Given the description of an element on the screen output the (x, y) to click on. 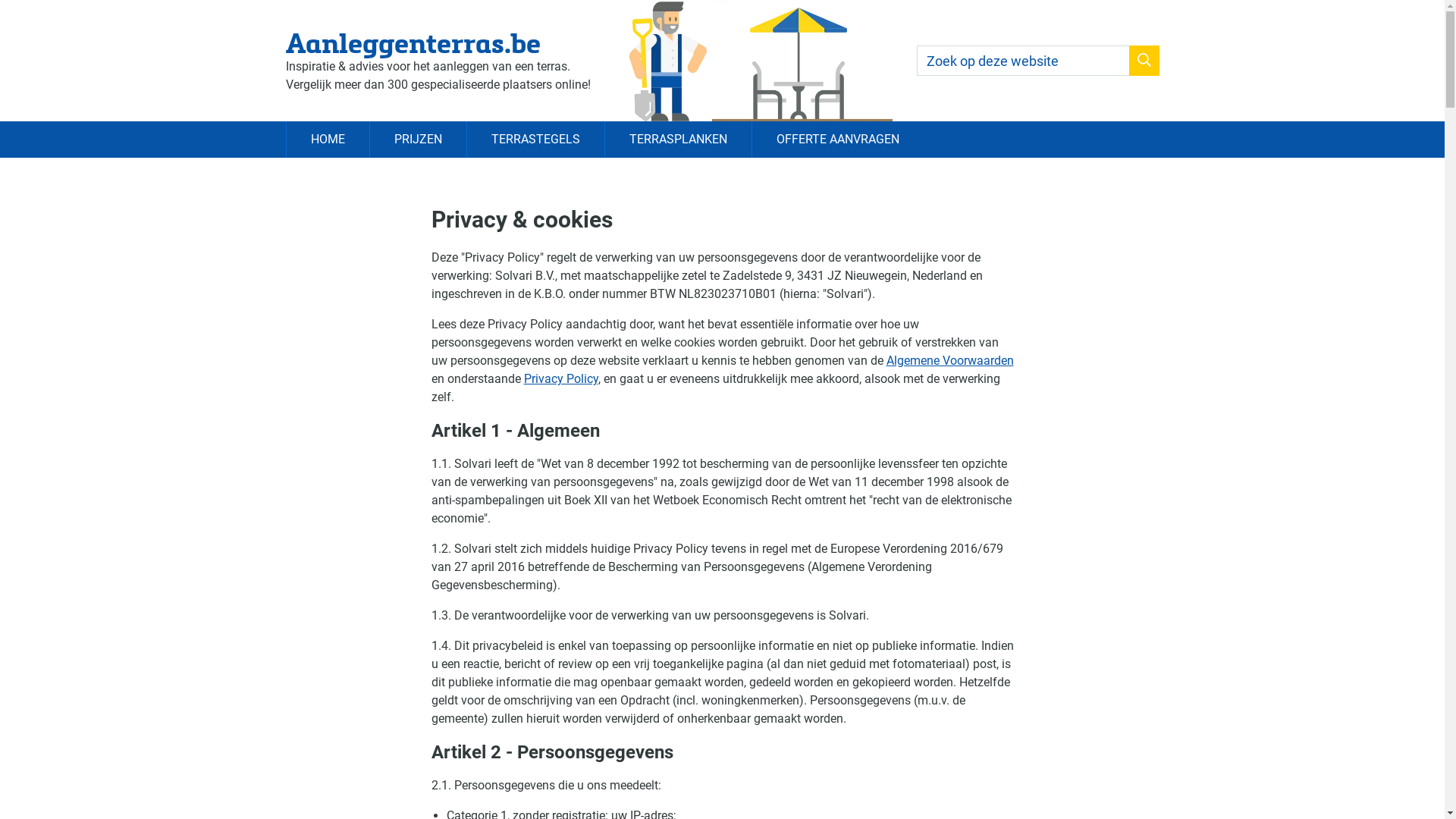
Aanleggenterras.be Element type: text (437, 42)
TERRASTEGELS Element type: text (534, 139)
TERRASPLANKEN Element type: text (676, 139)
Privacy Policy Element type: text (560, 378)
Algemene Voorwaarden Element type: text (949, 360)
OFFERTE AANVRAGEN Element type: text (836, 139)
PRIJZEN Element type: text (416, 139)
HOME Element type: text (326, 139)
